Given the description of an element on the screen output the (x, y) to click on. 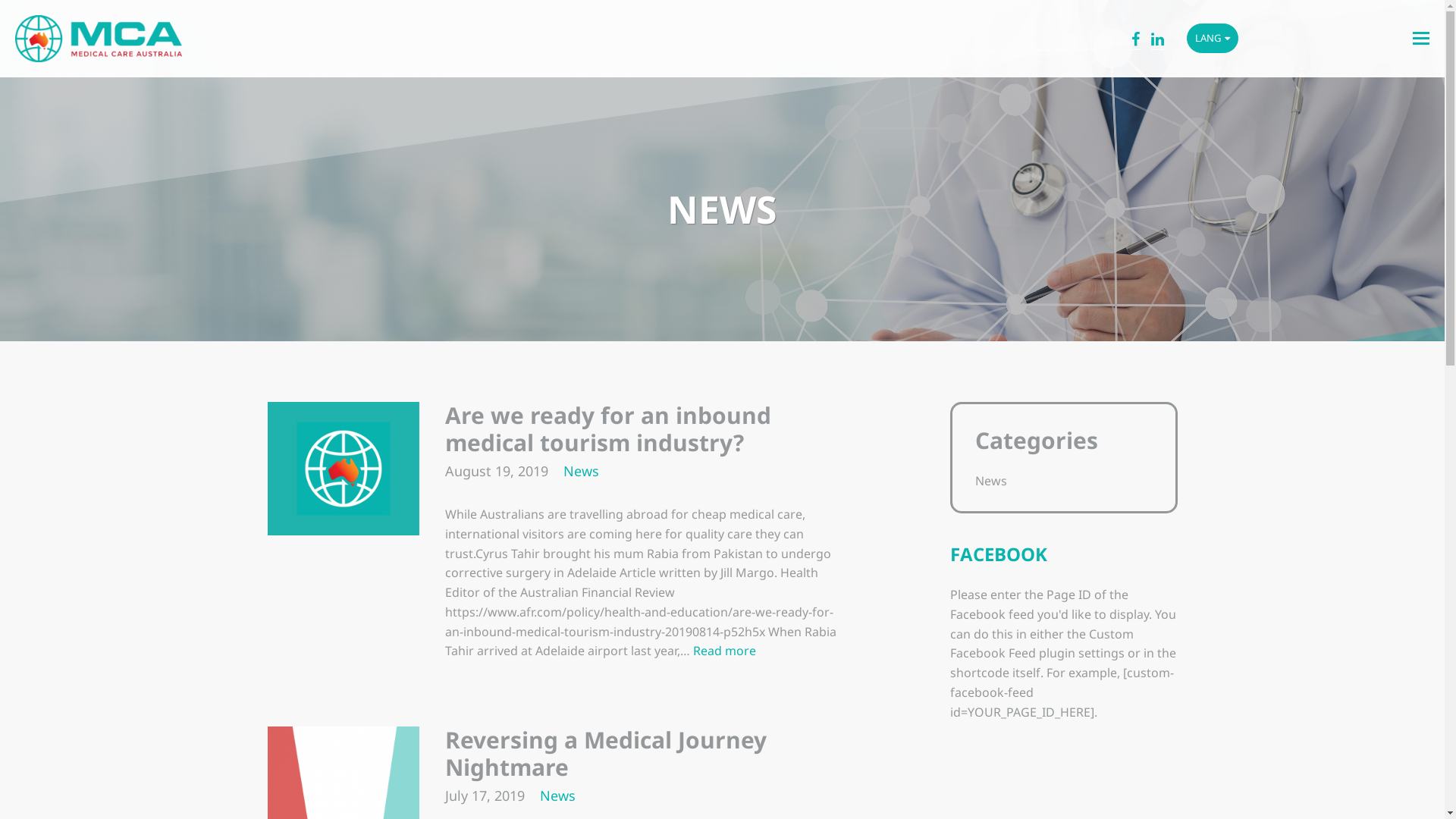
News Element type: text (557, 795)
Read more Element type: text (724, 650)
Reversing a Medical Journey Nightmare Element type: text (604, 753)
Are we ready for an inbound medical tourism industry? Element type: text (607, 428)
News Element type: text (580, 470)
News Element type: text (991, 480)
LANG Element type: text (1212, 38)
